Given the description of an element on the screen output the (x, y) to click on. 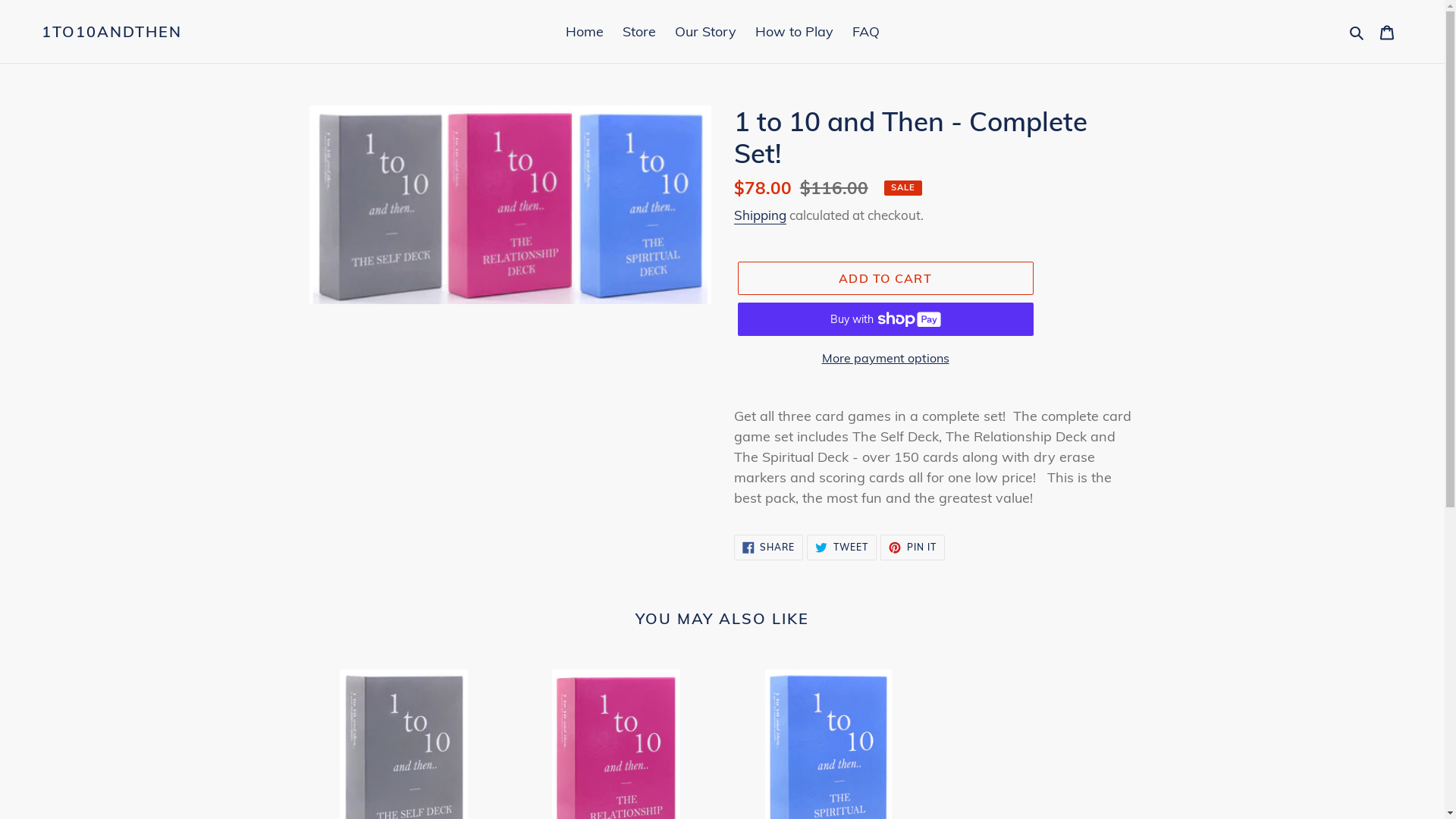
Home Element type: text (584, 30)
TWEET
TWEET ON TWITTER Element type: text (841, 547)
PIN IT
PIN ON PINTEREST Element type: text (912, 547)
More payment options Element type: text (884, 357)
Store Element type: text (638, 30)
ADD TO CART Element type: text (884, 277)
SHARE
SHARE ON FACEBOOK Element type: text (768, 547)
FAQ Element type: text (865, 30)
Search Element type: text (1357, 31)
Cart Element type: text (1386, 31)
How to Play Element type: text (793, 30)
Our Story Element type: text (705, 30)
1TO10ANDTHEN Element type: text (111, 31)
Shipping Element type: text (760, 215)
